Given the description of an element on the screen output the (x, y) to click on. 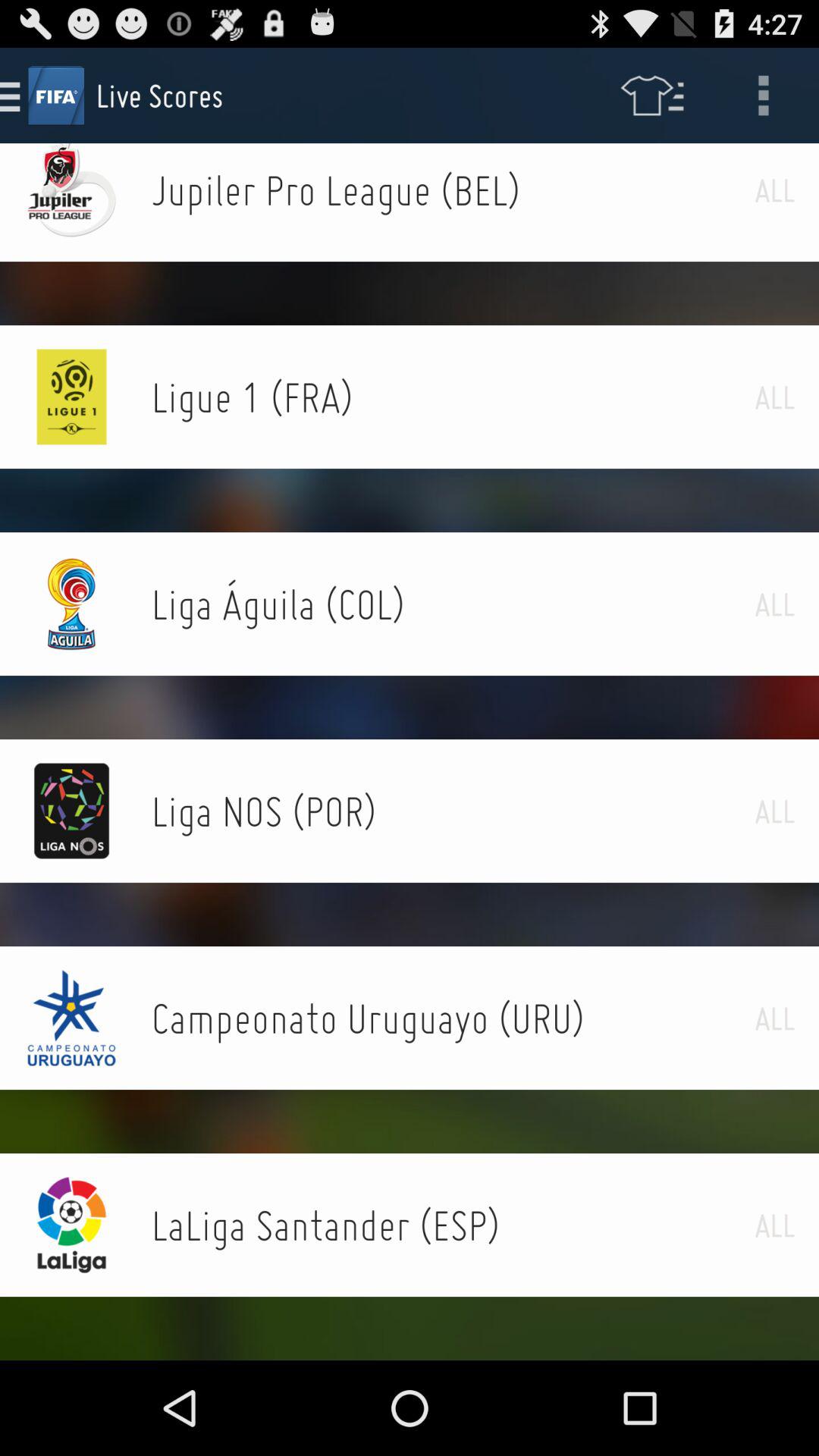
launch the item next to all (452, 189)
